Given the description of an element on the screen output the (x, y) to click on. 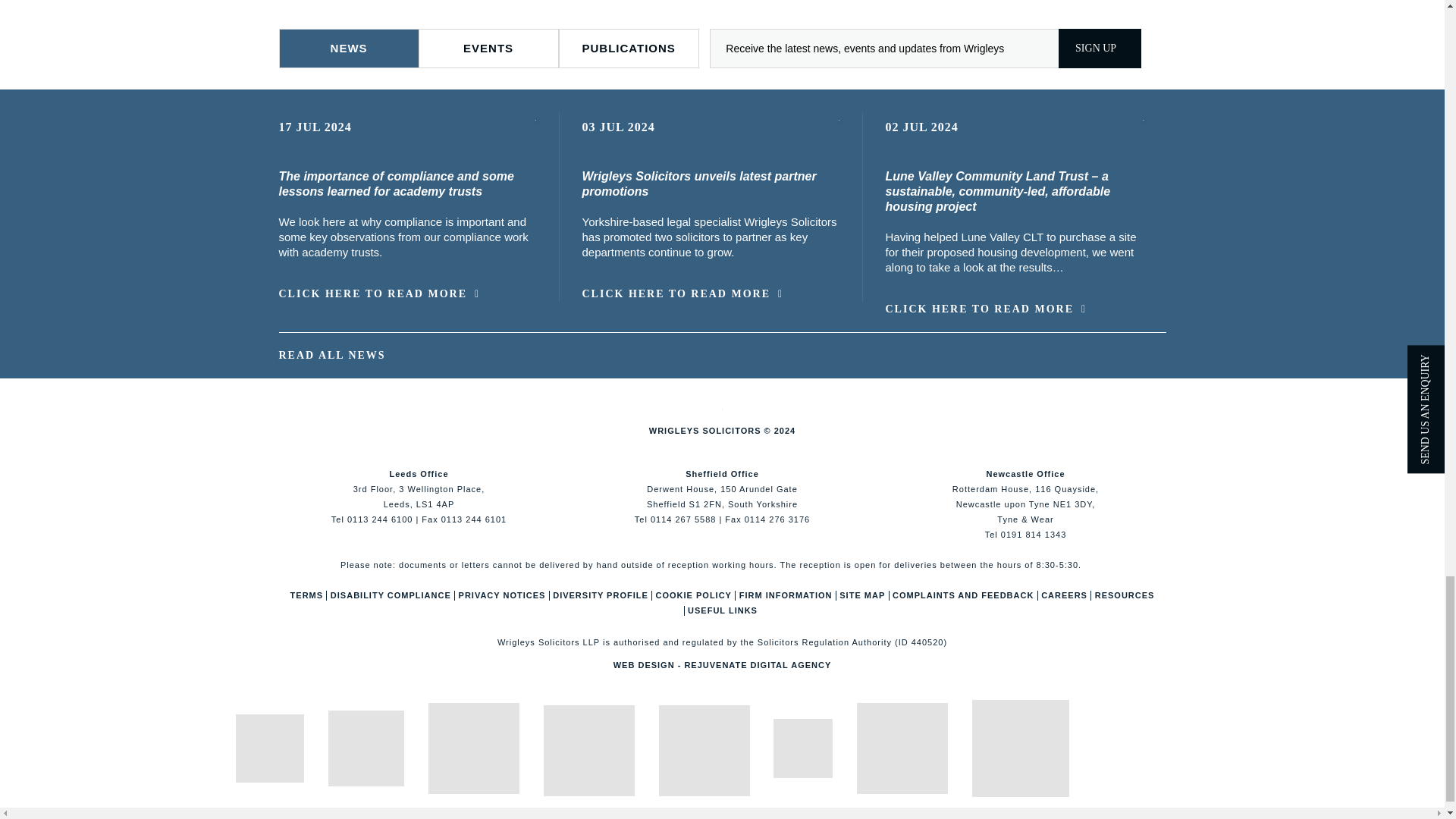
Living Wage Logo (902, 747)
Disability Confident Logo (1020, 748)
Top Ranked Chambers UK 2023- Leading Firm (703, 750)
Chambers High Net Worth (588, 750)
Lexcel Practice Management Standard. Law Society Accredited (473, 747)
Web Design Leeds - Rejuvenate Productions (721, 664)
Top 25 Law Firms 2023 (802, 748)
